Given the description of an element on the screen output the (x, y) to click on. 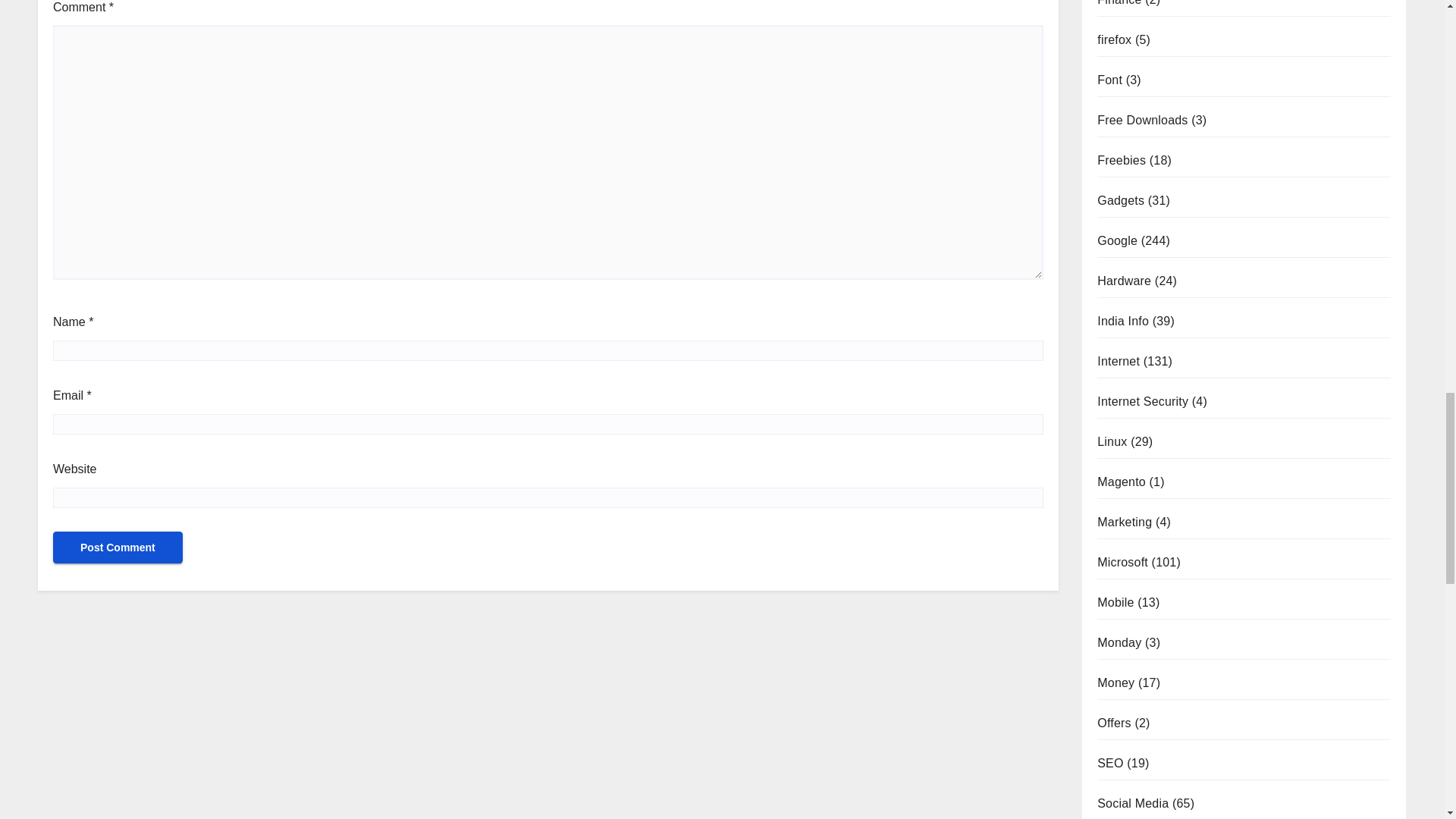
Post Comment (117, 547)
